Given the description of an element on the screen output the (x, y) to click on. 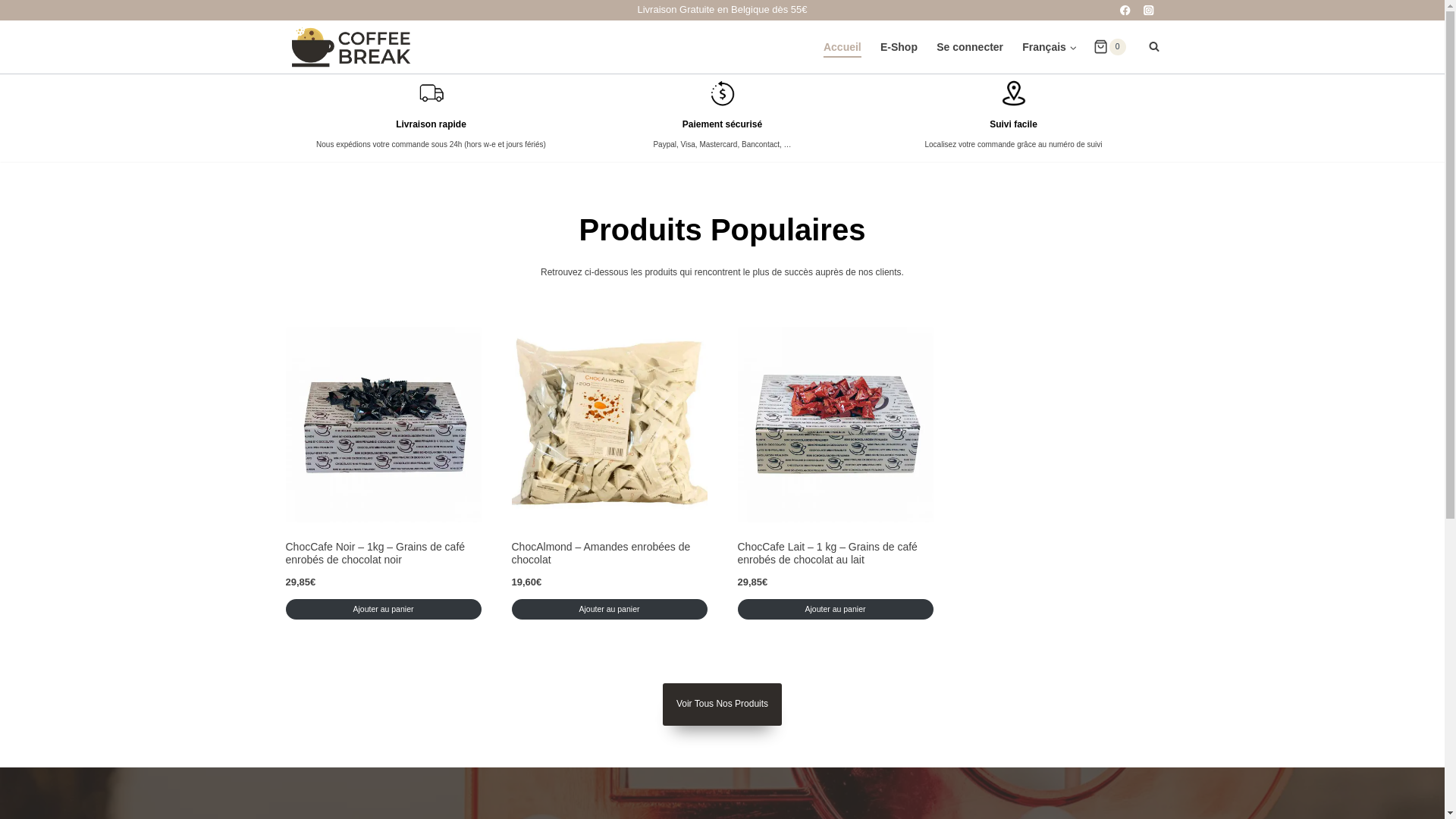
Se connecter Element type: text (970, 46)
Ajouter au panier Element type: text (834, 609)
Ajouter au panier Element type: text (382, 609)
Voir Tous Nos Produits Element type: text (721, 703)
Ajouter au panier Element type: text (608, 609)
0 Element type: text (1109, 46)
Accueil Element type: text (841, 46)
E-Shop Element type: text (898, 46)
